Given the description of an element on the screen output the (x, y) to click on. 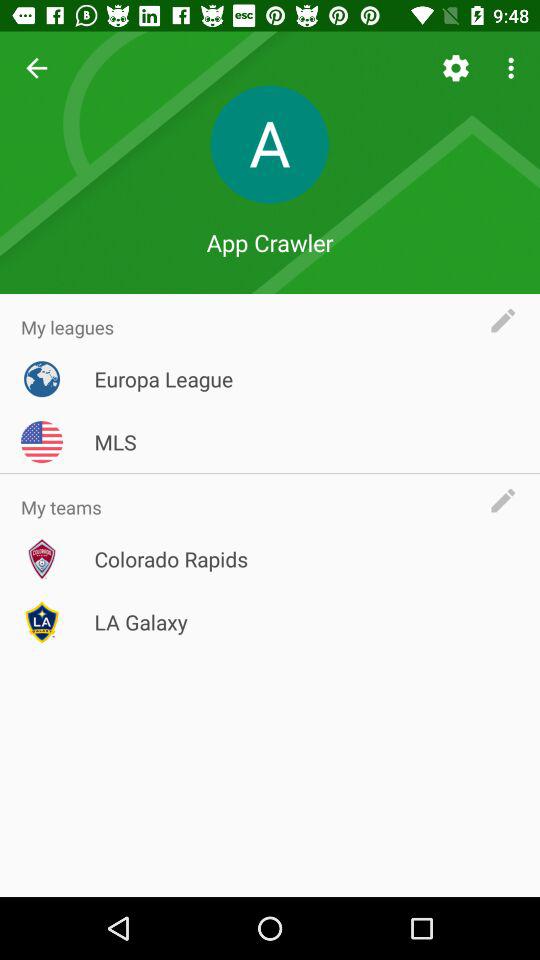
select the pencil button (508, 500)
